Given the description of an element on the screen output the (x, y) to click on. 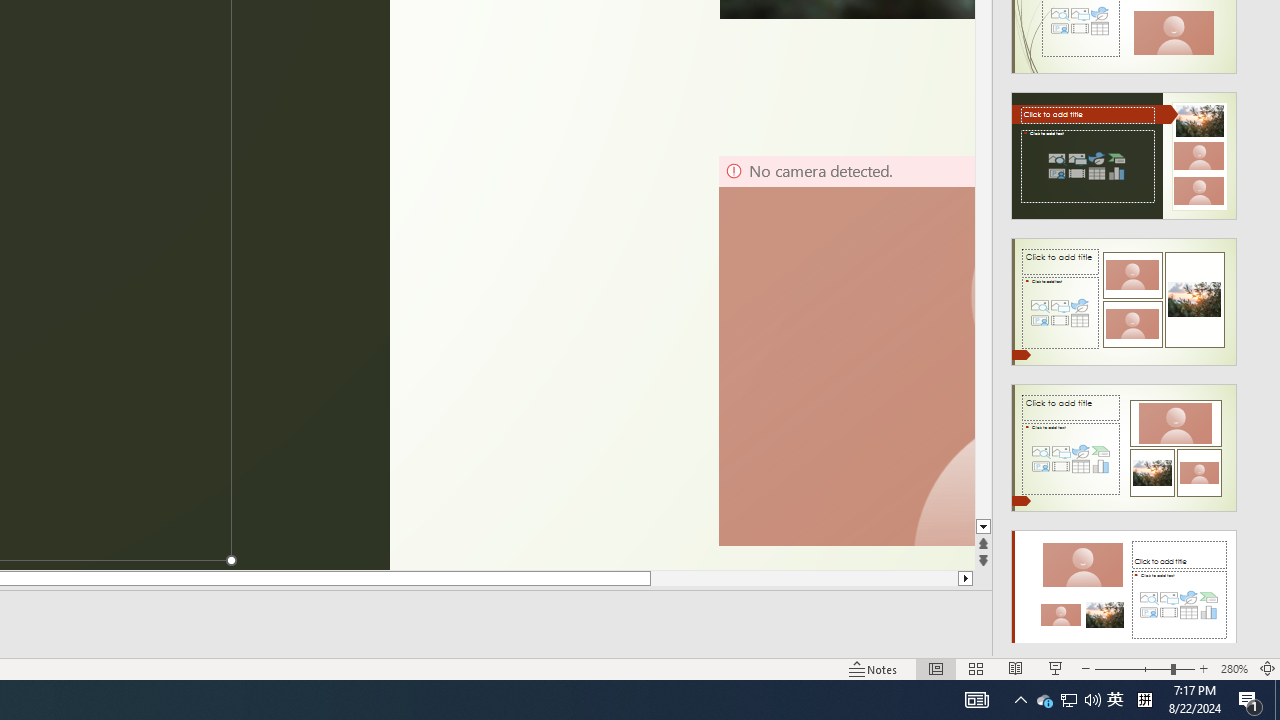
Page down (983, 283)
Design Idea (1124, 587)
Line down (983, 527)
Camera 13, No camera detected. (845, 350)
Zoom 280% (1234, 668)
